Given the description of an element on the screen output the (x, y) to click on. 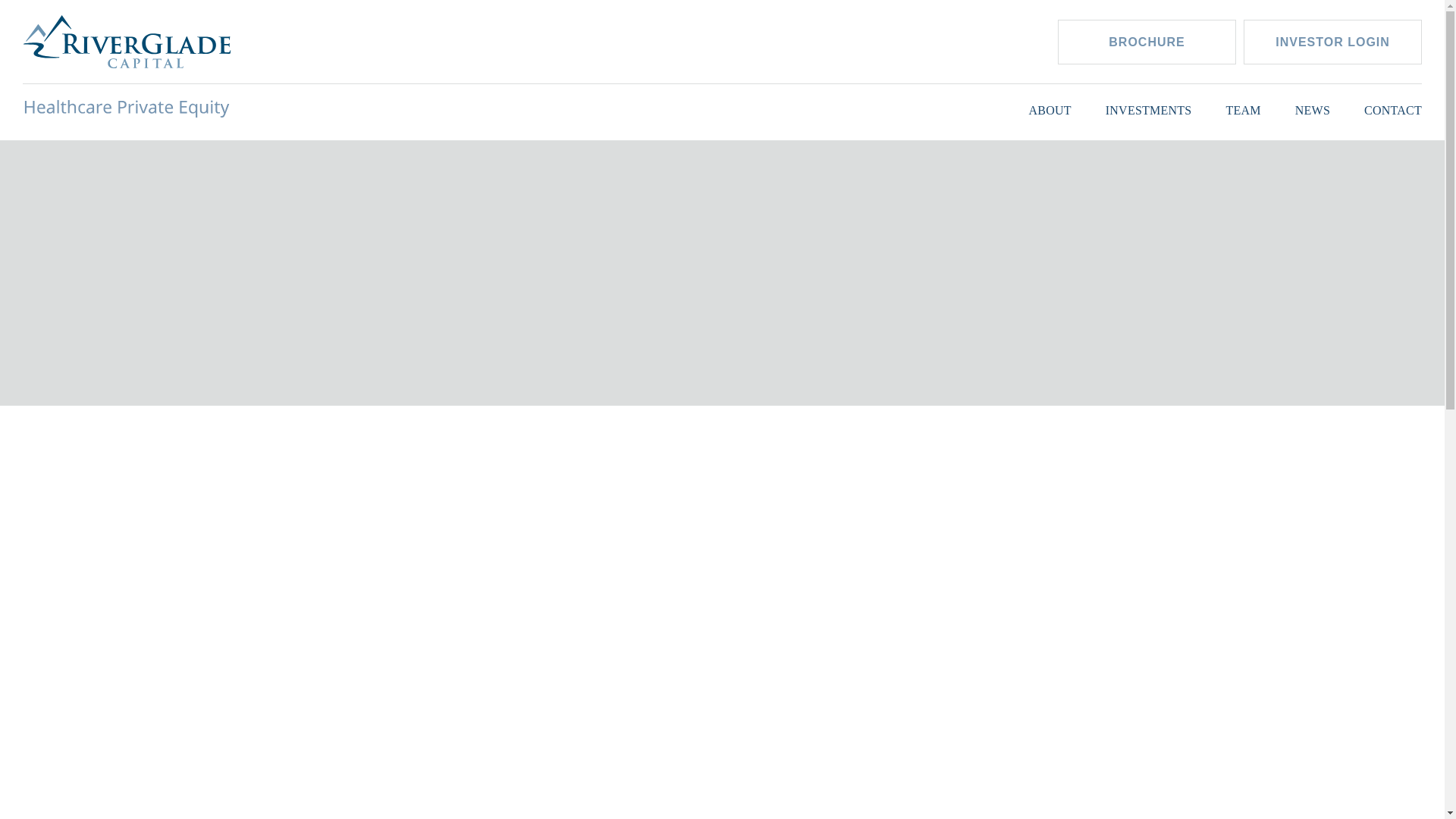
INVESTOR LOGIN (1332, 41)
INVESTMENTS (1148, 108)
BROCHURE (1147, 41)
healthcare private equity text (127, 107)
CONTACT (1393, 108)
